Given the description of an element on the screen output the (x, y) to click on. 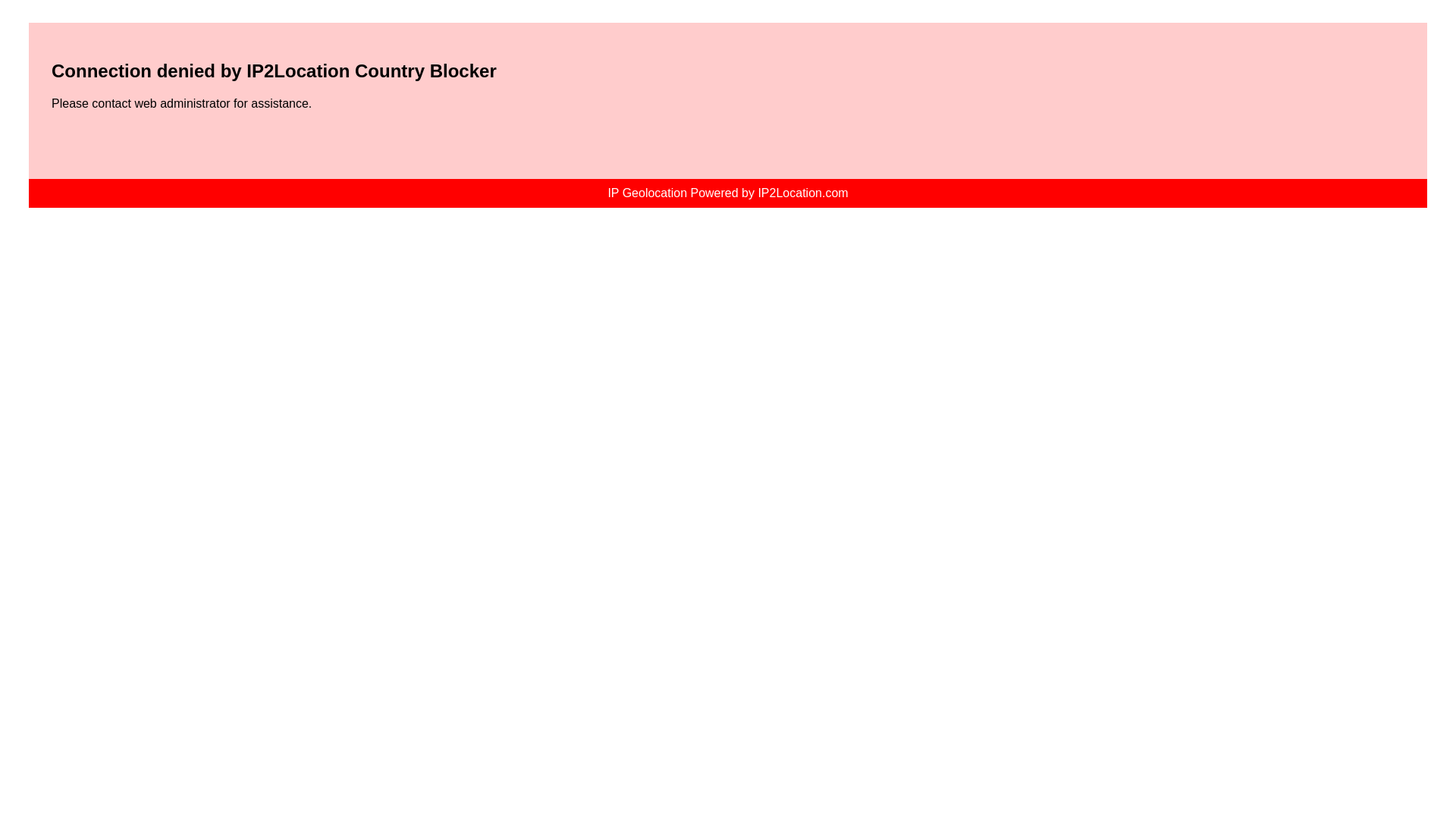
IP Geolocation Powered by IP2Location.com (727, 192)
